Given the description of an element on the screen output the (x, y) to click on. 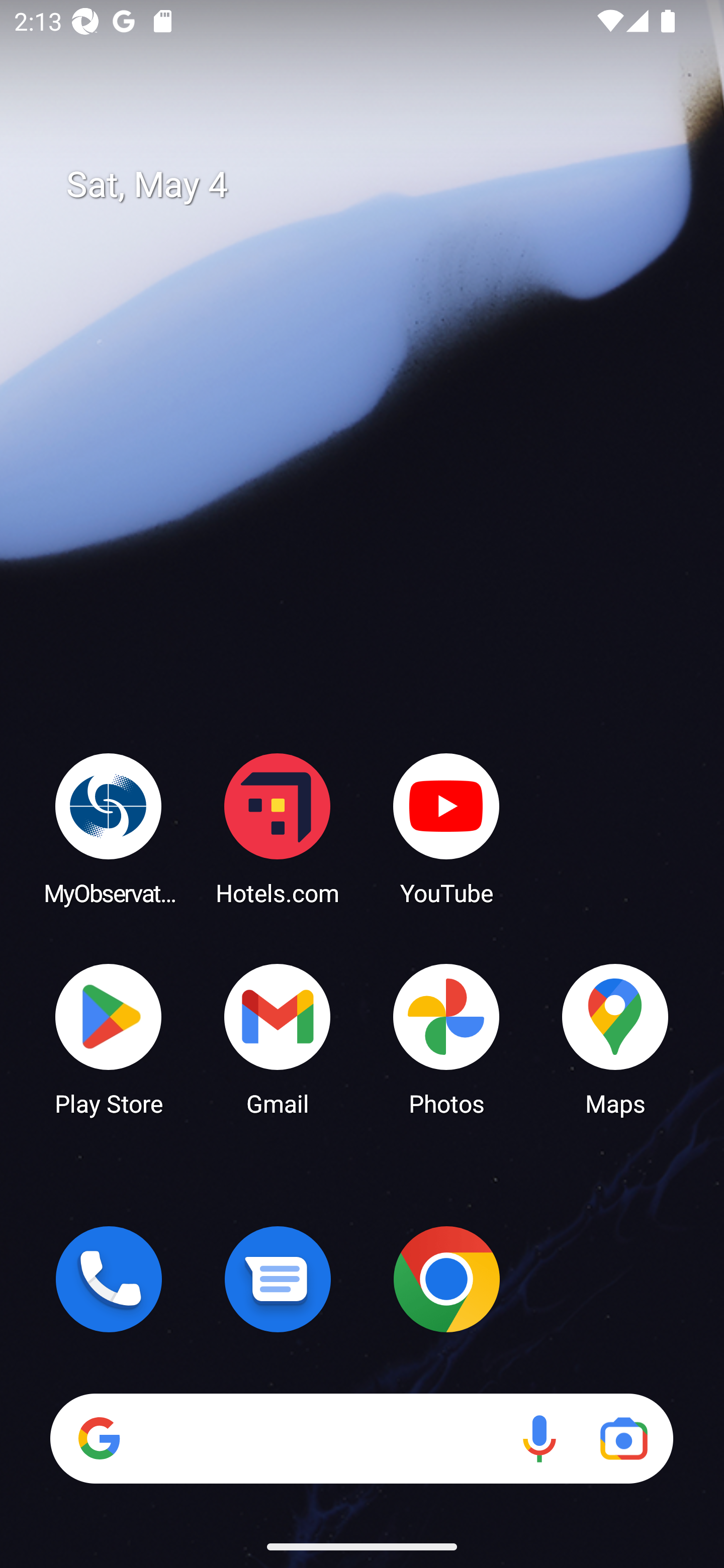
Sat, May 4 (375, 184)
MyObservatory (108, 828)
Hotels.com (277, 828)
YouTube (445, 828)
Play Store (108, 1038)
Gmail (277, 1038)
Photos (445, 1038)
Maps (615, 1038)
Phone (108, 1279)
Messages (277, 1279)
Chrome (446, 1279)
Search Voice search Google Lens (361, 1438)
Voice search (539, 1438)
Google Lens (623, 1438)
